Given the description of an element on the screen output the (x, y) to click on. 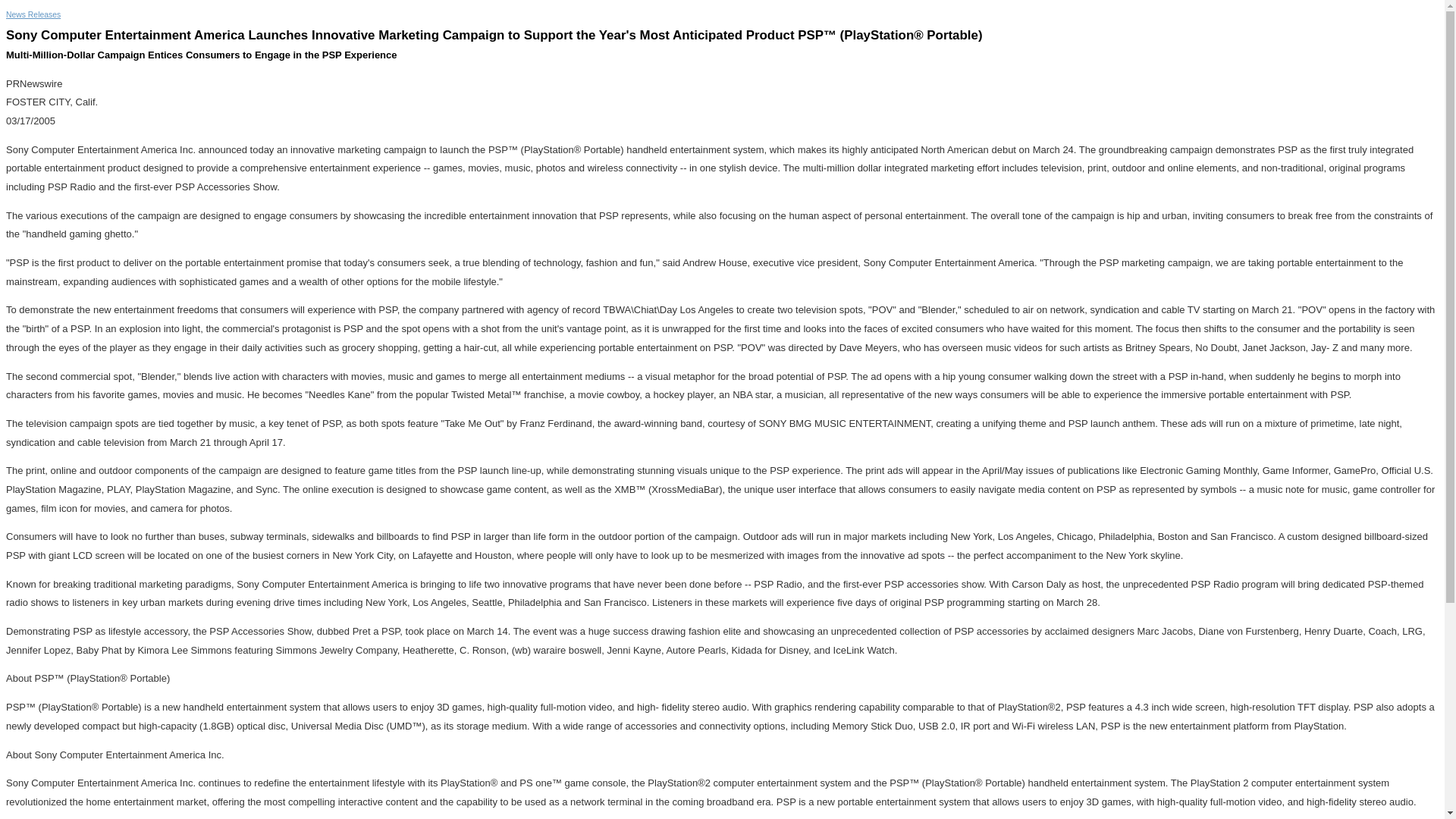
News Releases (33, 14)
